Given the description of an element on the screen output the (x, y) to click on. 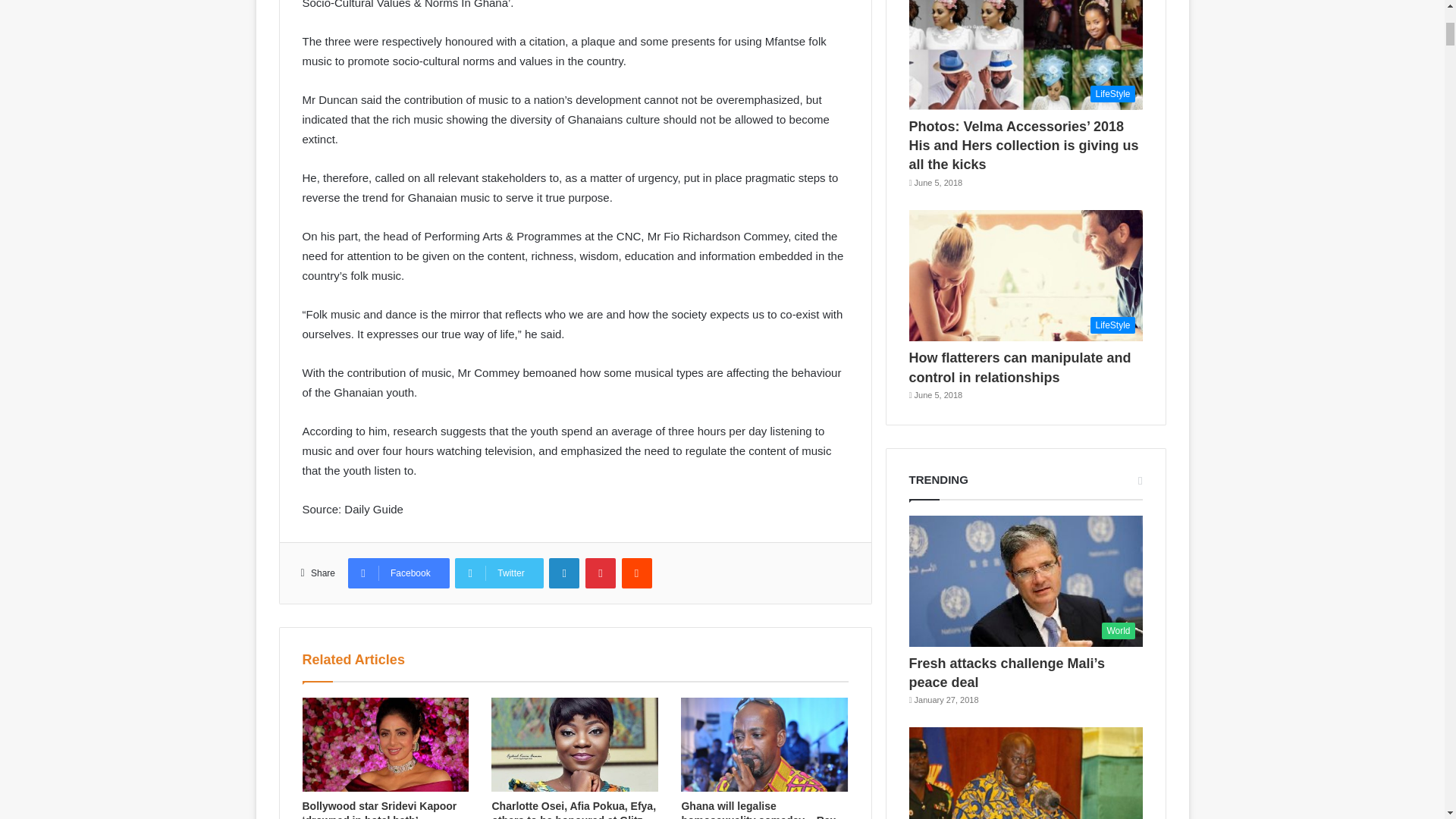
LinkedIn (563, 572)
LinkedIn (563, 572)
Reddit (636, 572)
Pinterest (600, 572)
Pinterest (600, 572)
Facebook (398, 572)
Twitter (498, 572)
Reddit (636, 572)
Twitter (498, 572)
Facebook (398, 572)
